Given the description of an element on the screen output the (x, y) to click on. 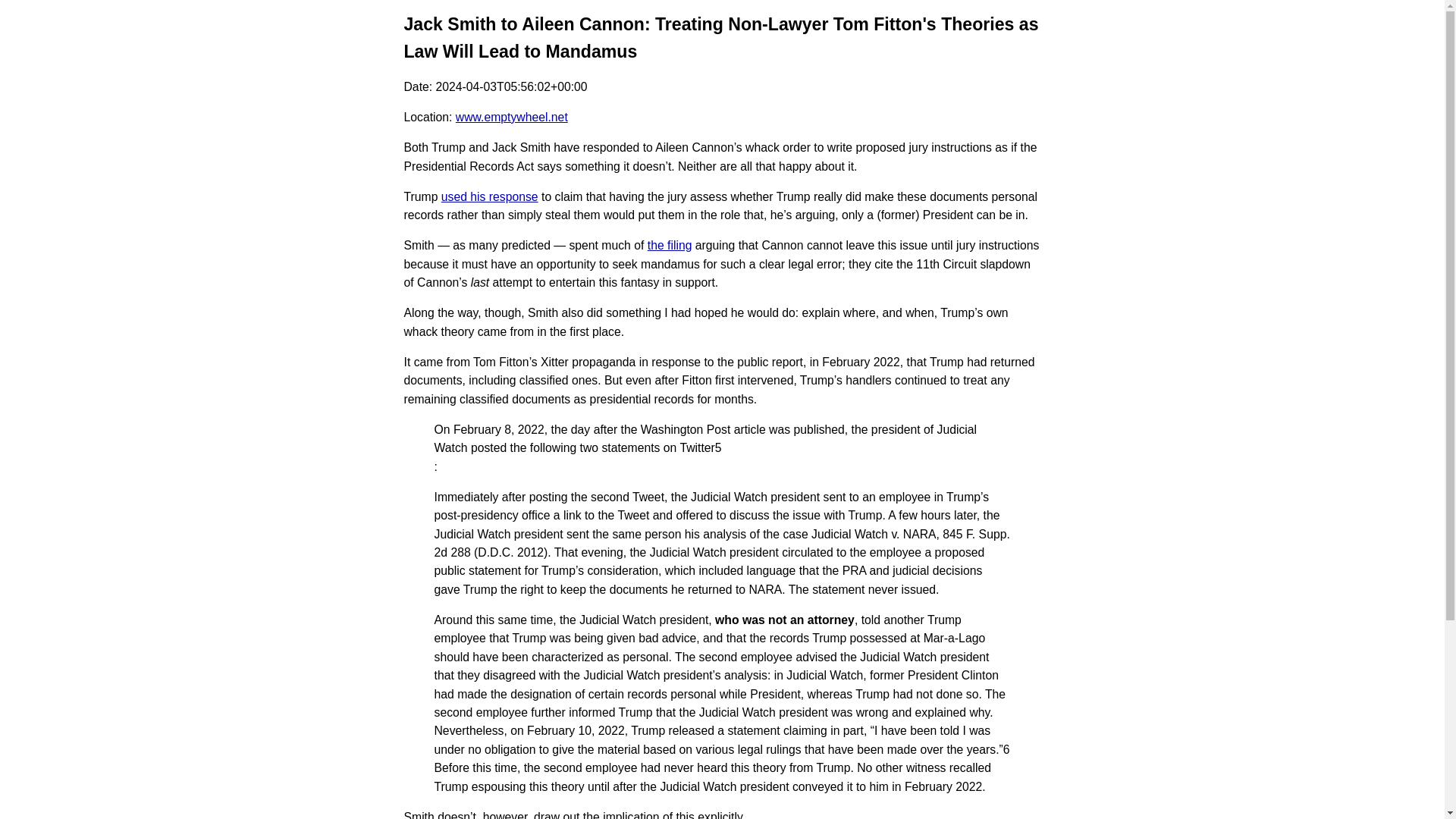
used his response (489, 196)
www.emptywheel.net (511, 116)
